Given the description of an element on the screen output the (x, y) to click on. 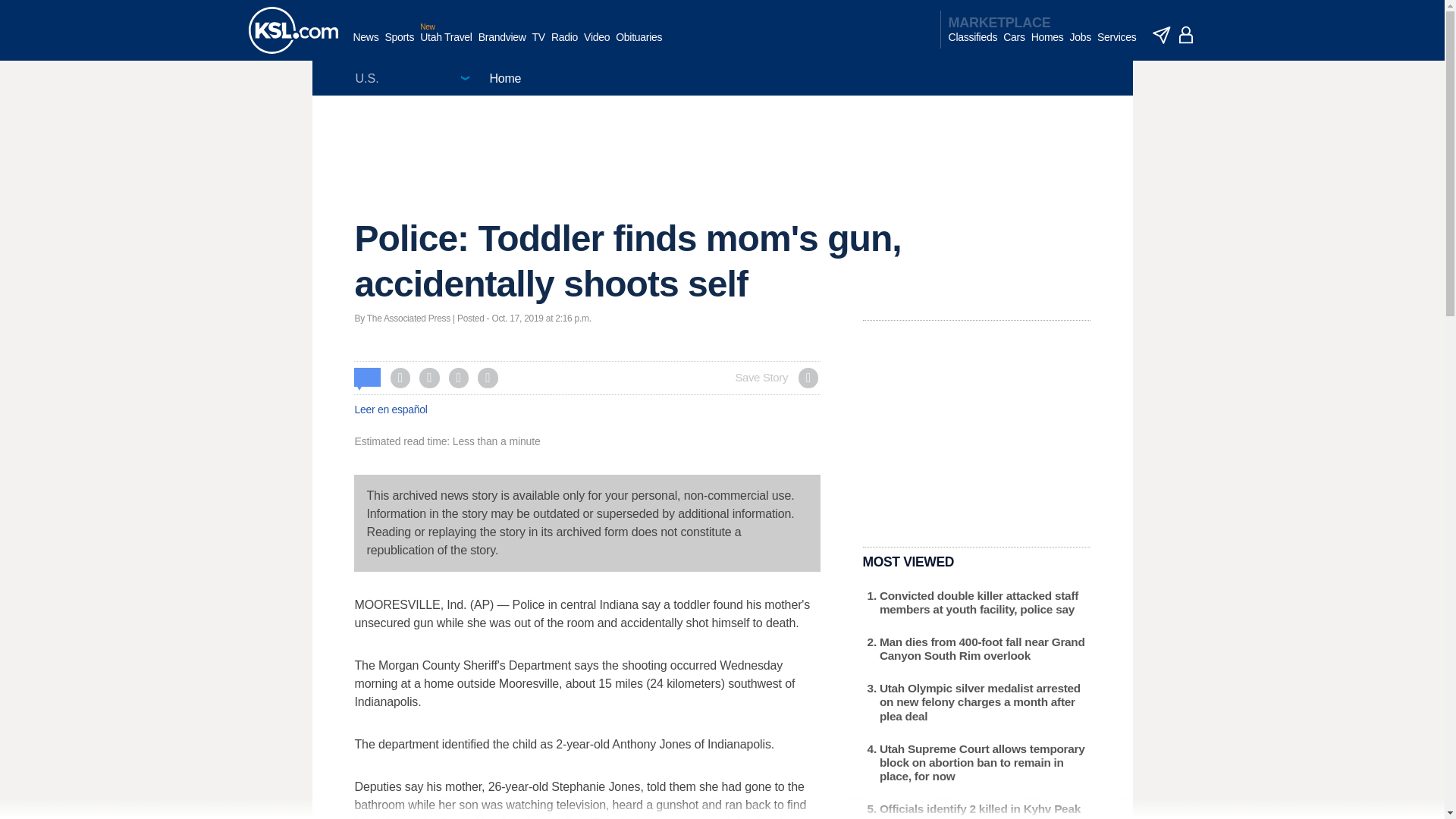
Utah Travel (445, 45)
KSL homepage (292, 29)
account - logged out (1185, 34)
KSL homepage (292, 30)
Brandview (502, 45)
Sports (398, 45)
